Given the description of an element on the screen output the (x, y) to click on. 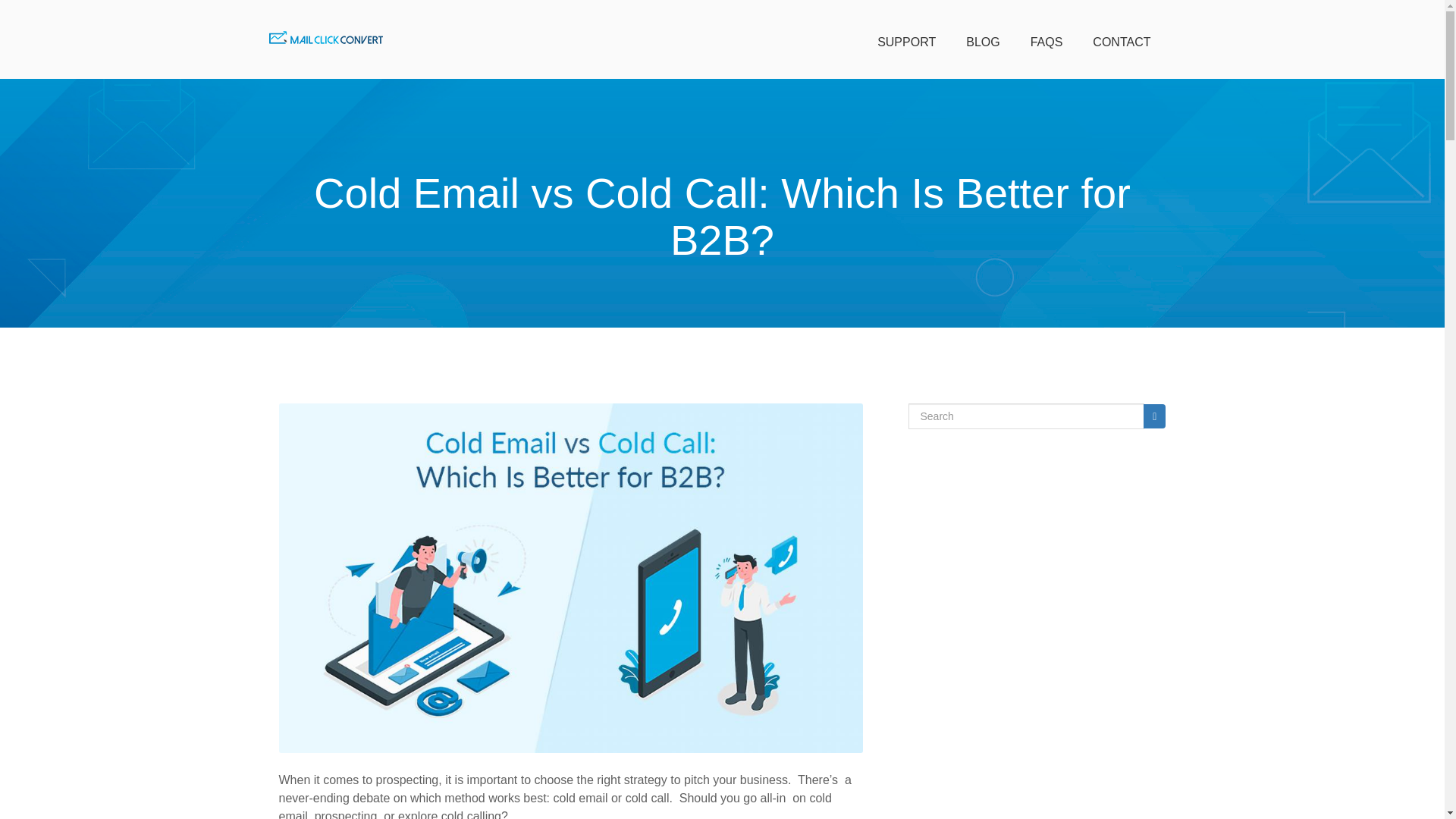
FAQS (1046, 39)
SUPPORT (906, 39)
Home (325, 38)
CONTACT (1121, 39)
Enter the terms you wish to search for. (1026, 416)
Search (1154, 416)
BLOG (982, 39)
